Given the description of an element on the screen output the (x, y) to click on. 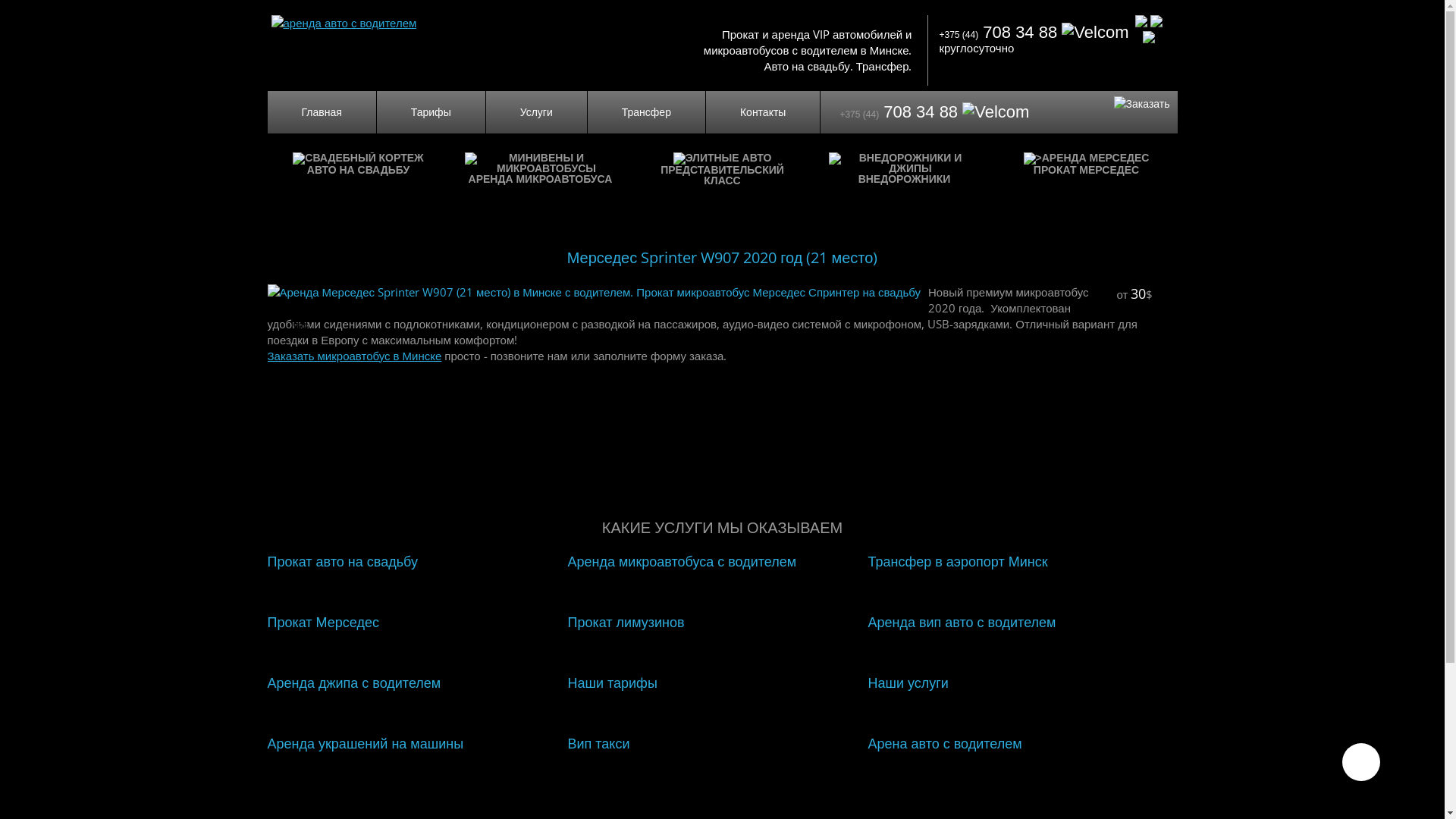
+375 (44) 708 34 88 Element type: text (1033, 31)
